Given the description of an element on the screen output the (x, y) to click on. 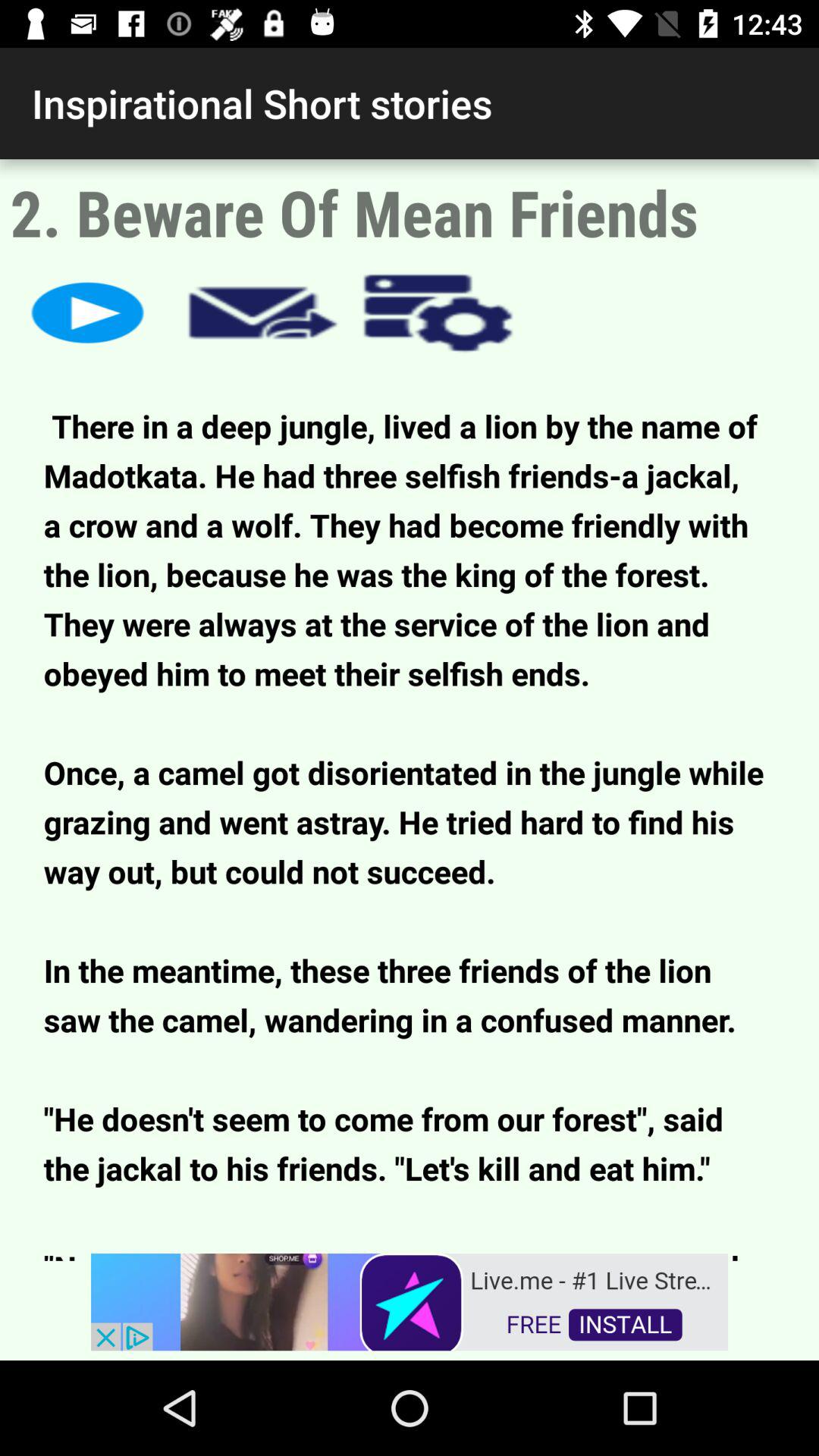
share article (262, 312)
